Given the description of an element on the screen output the (x, y) to click on. 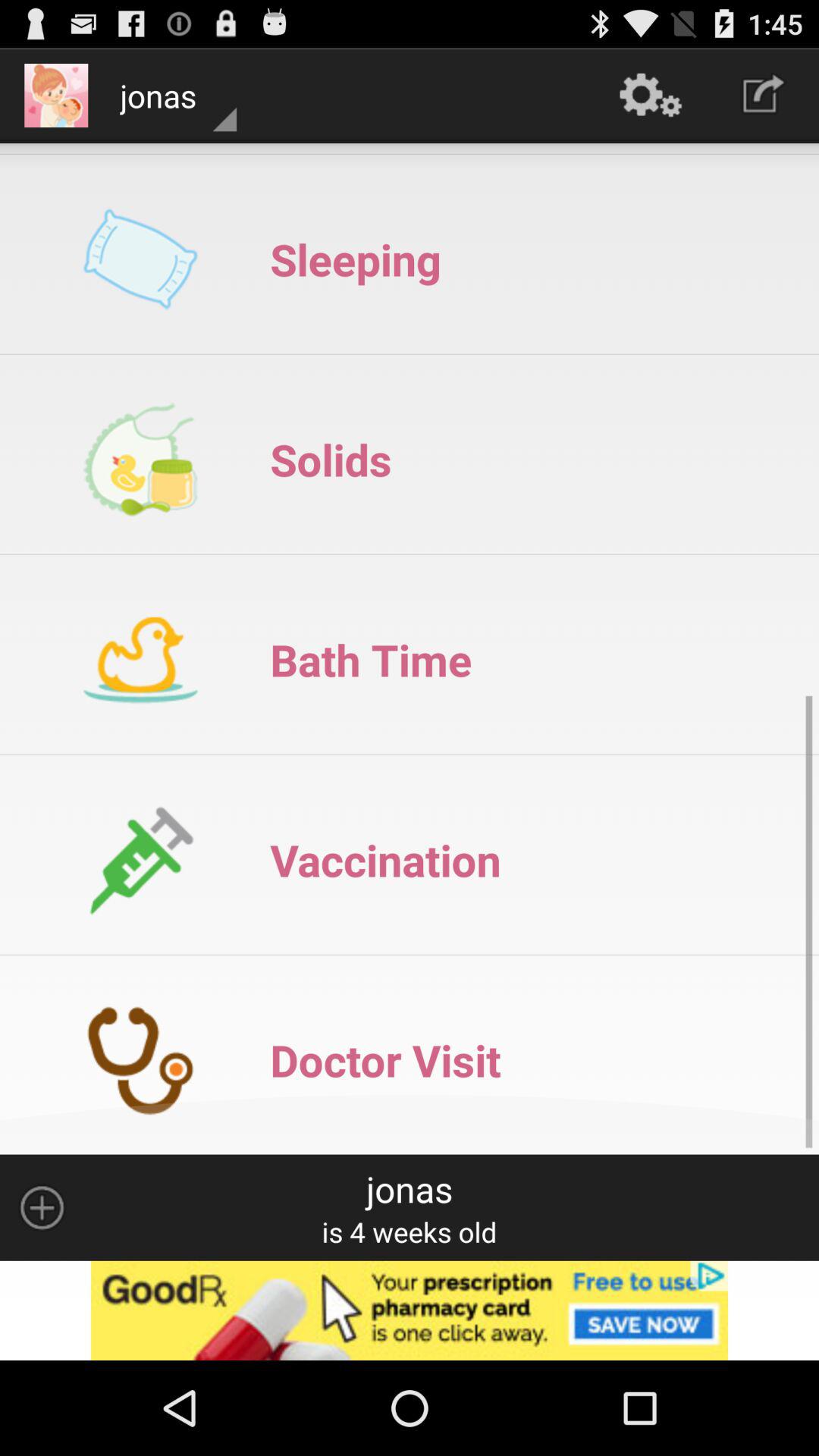
add option (41, 1207)
